Given the description of an element on the screen output the (x, y) to click on. 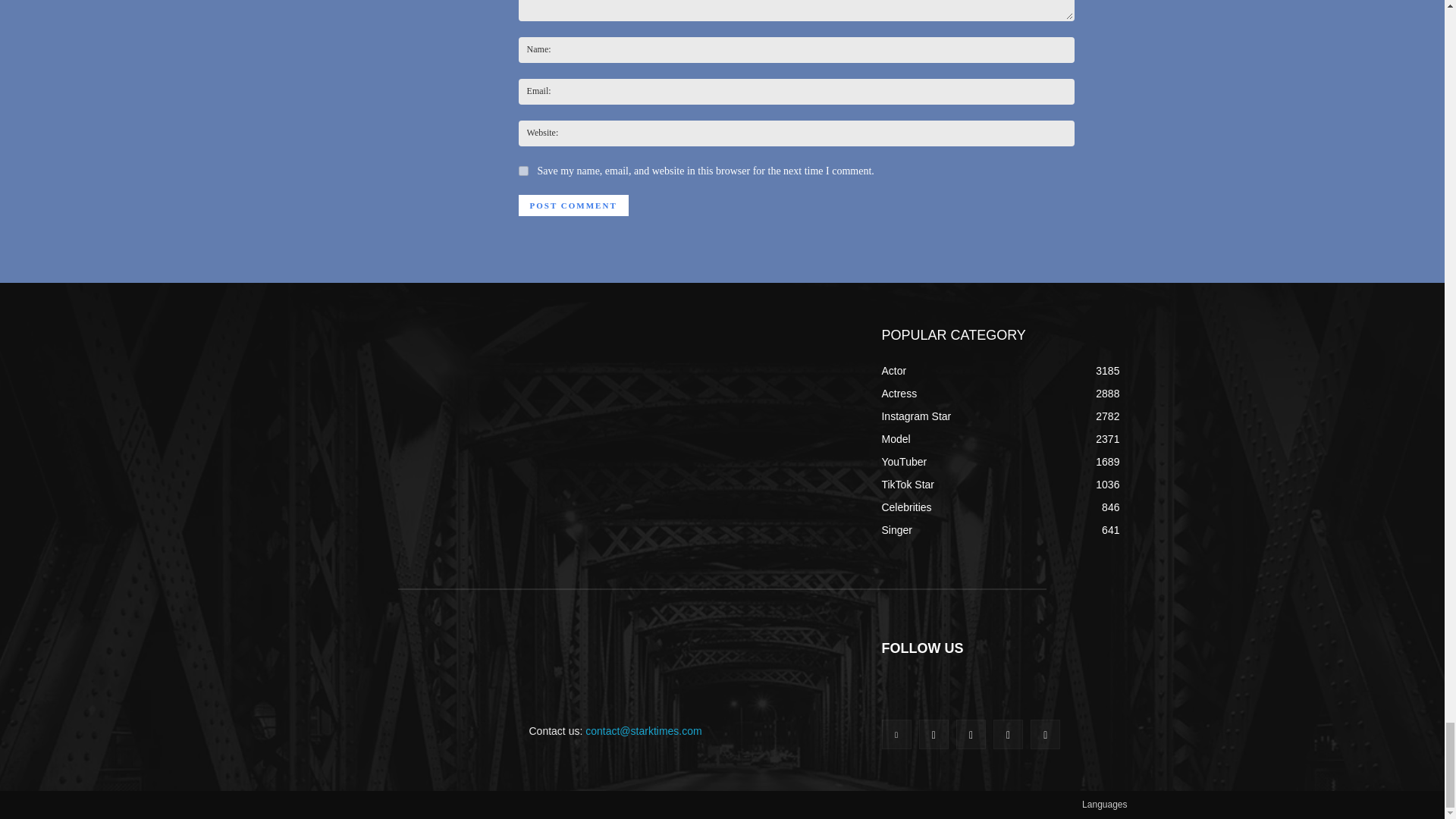
yes (523, 171)
Post Comment (573, 205)
